Given the description of an element on the screen output the (x, y) to click on. 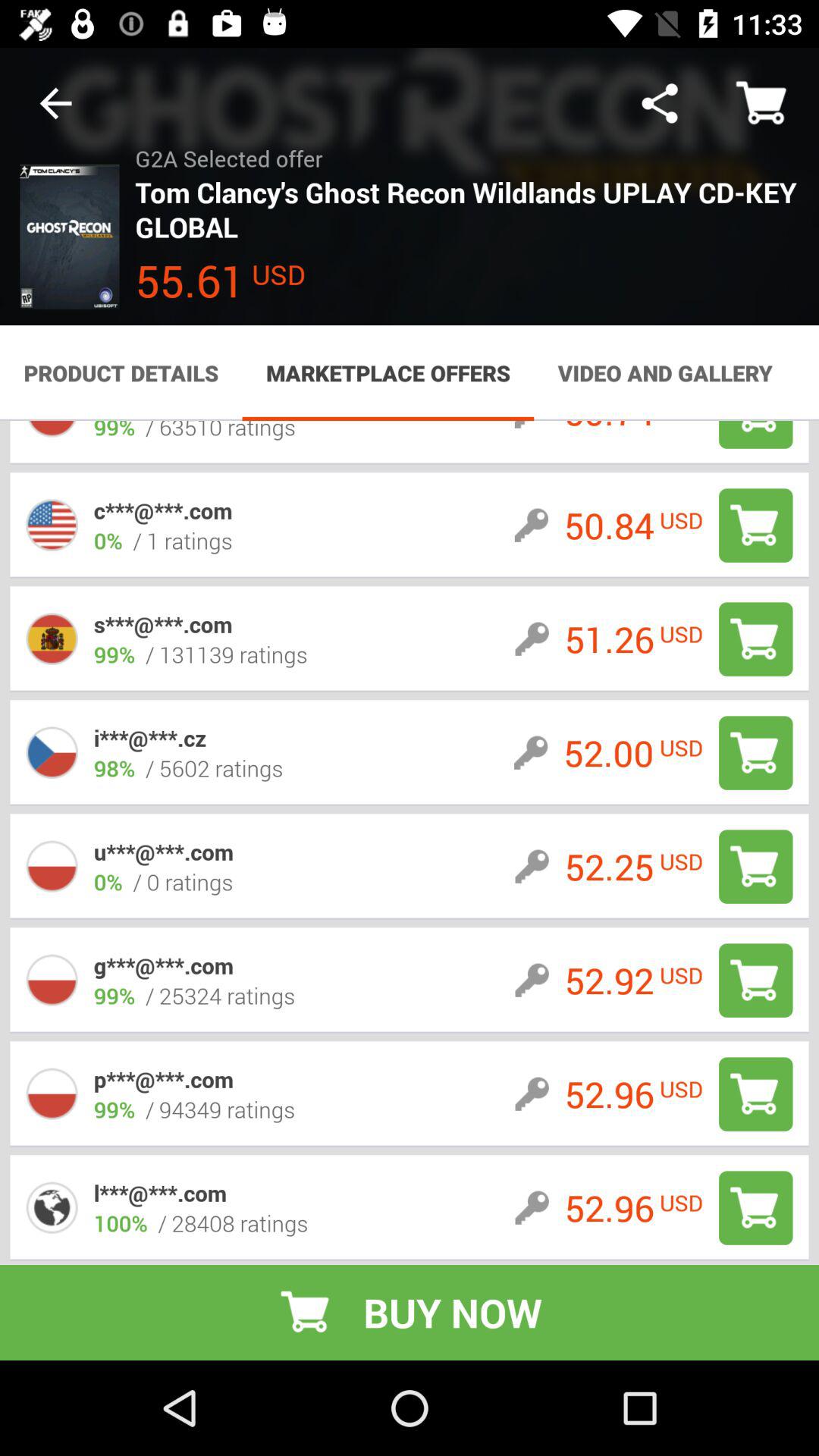
add to cart (755, 1094)
